Given the description of an element on the screen output the (x, y) to click on. 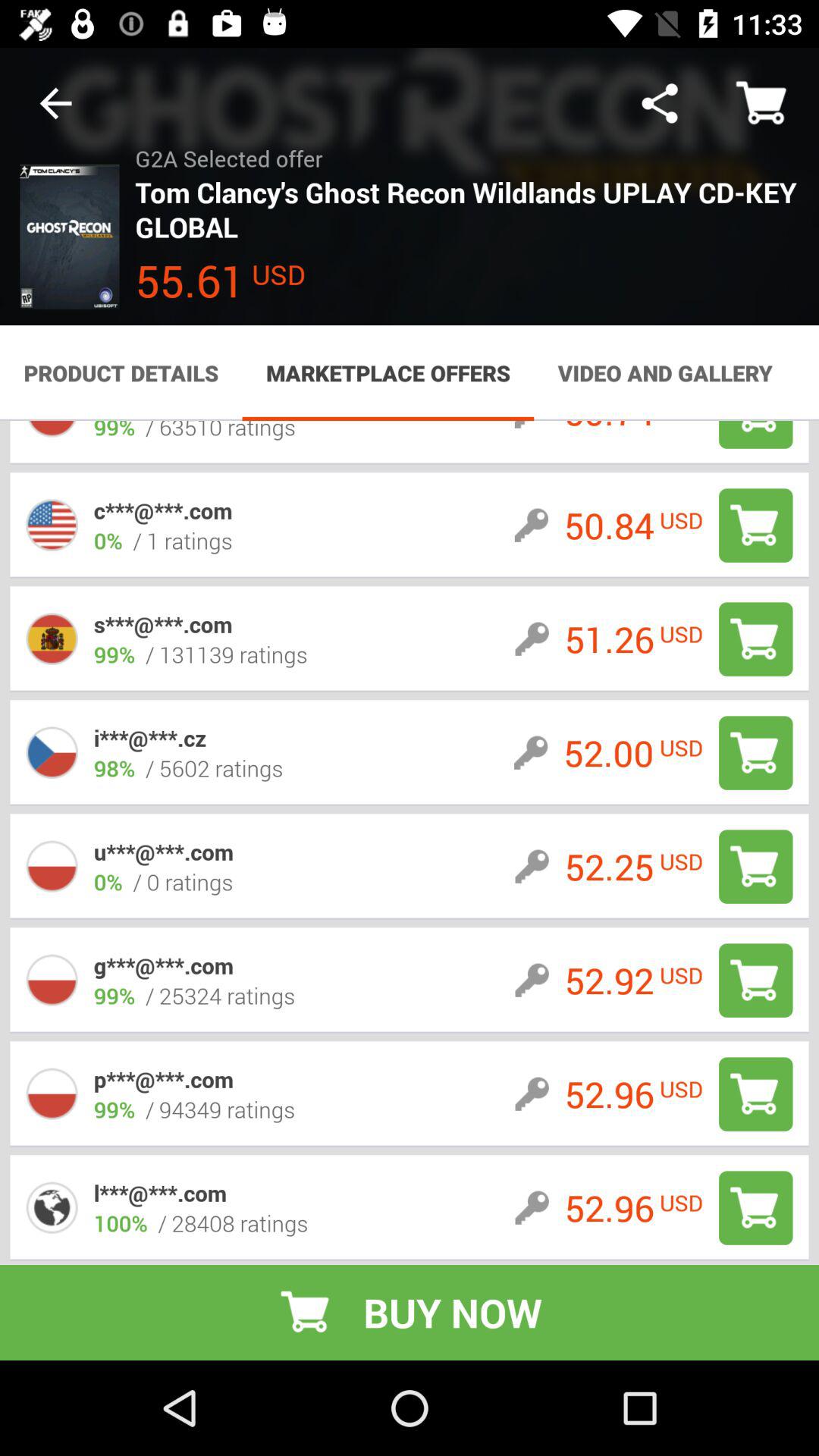
add to cart (755, 1094)
